Given the description of an element on the screen output the (x, y) to click on. 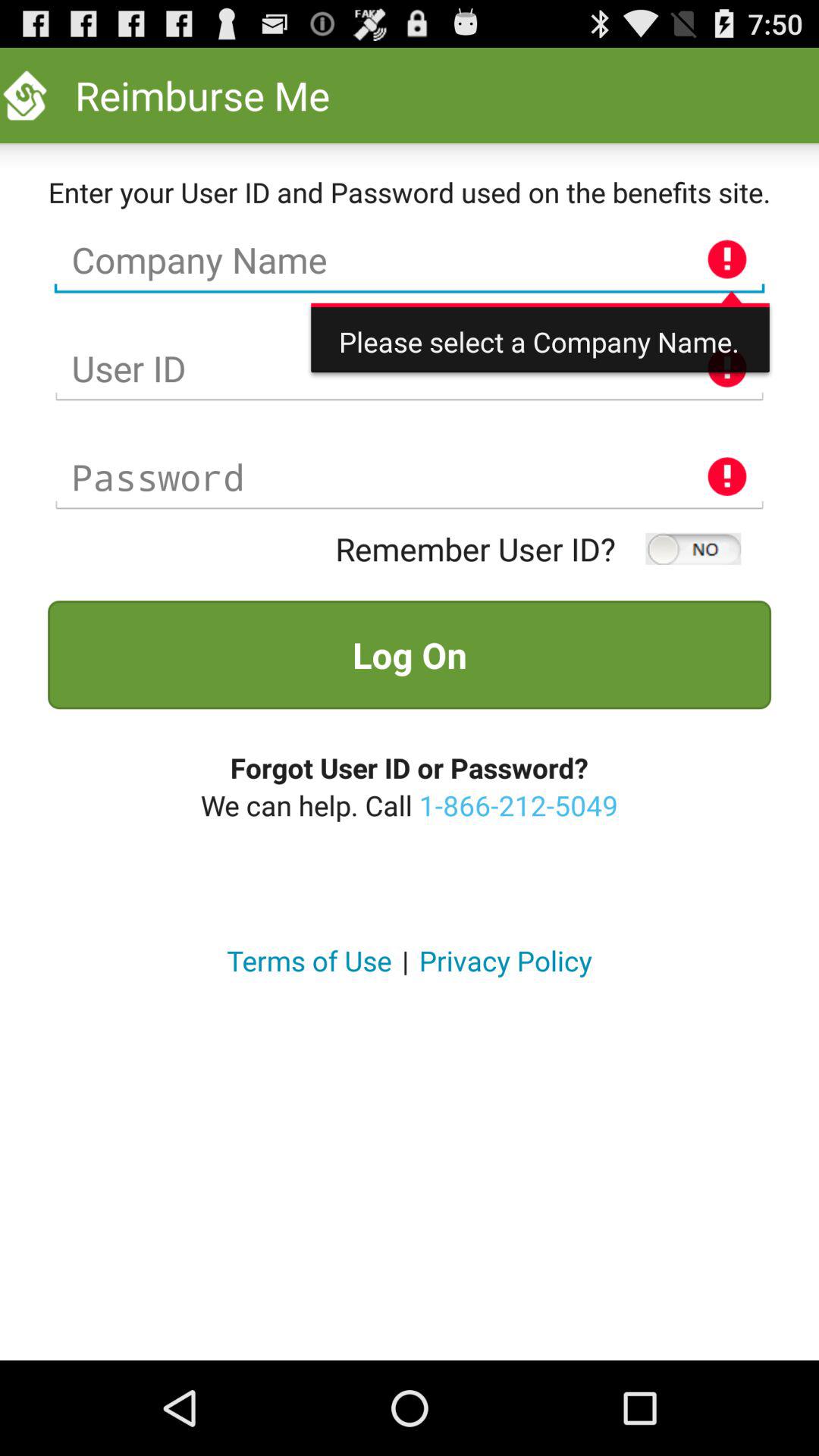
type text in password prompt (409, 477)
